Given the description of an element on the screen output the (x, y) to click on. 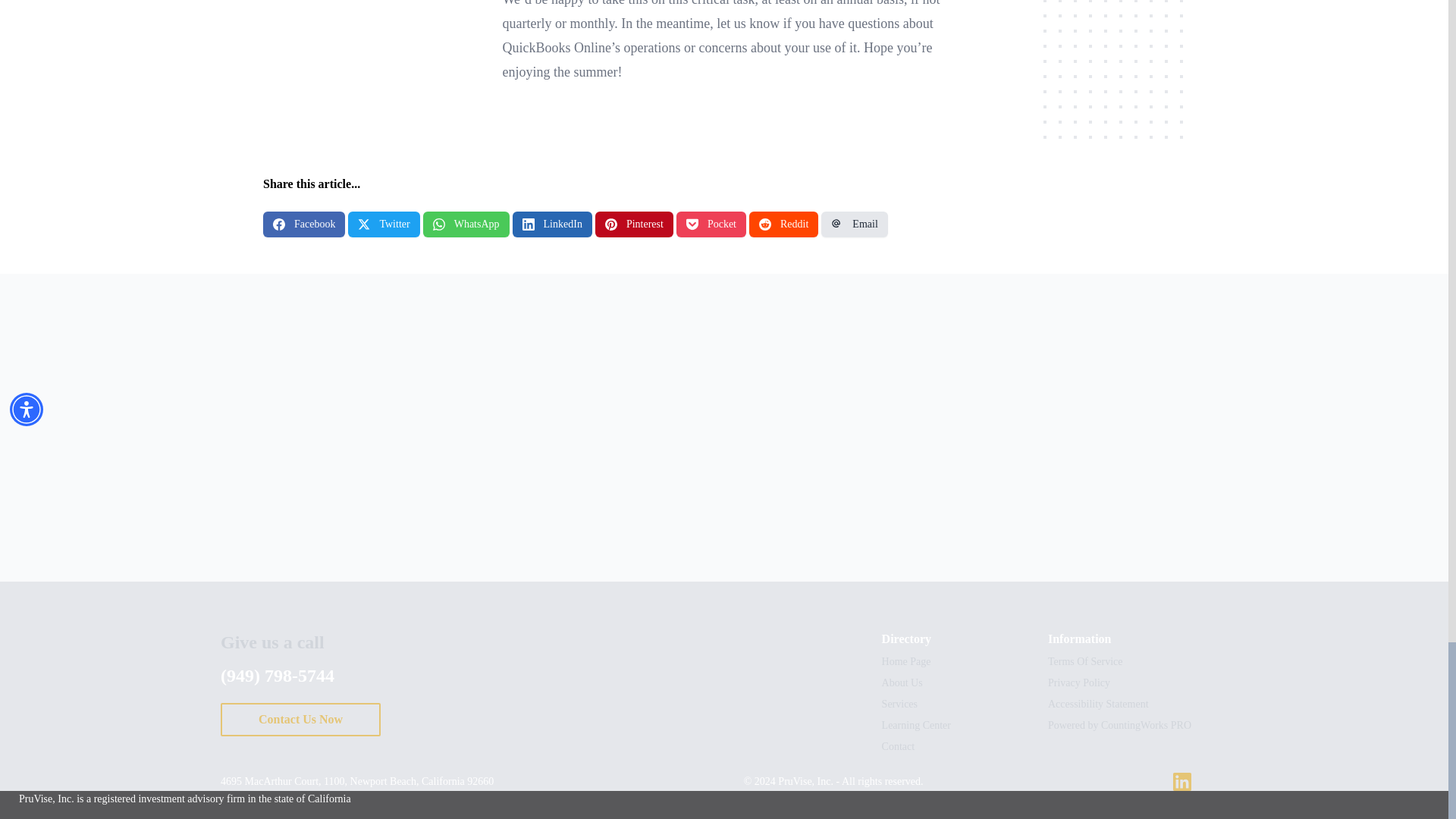
WhatsApp (466, 224)
Twitter (383, 224)
Facebook (304, 224)
